Given the description of an element on the screen output the (x, y) to click on. 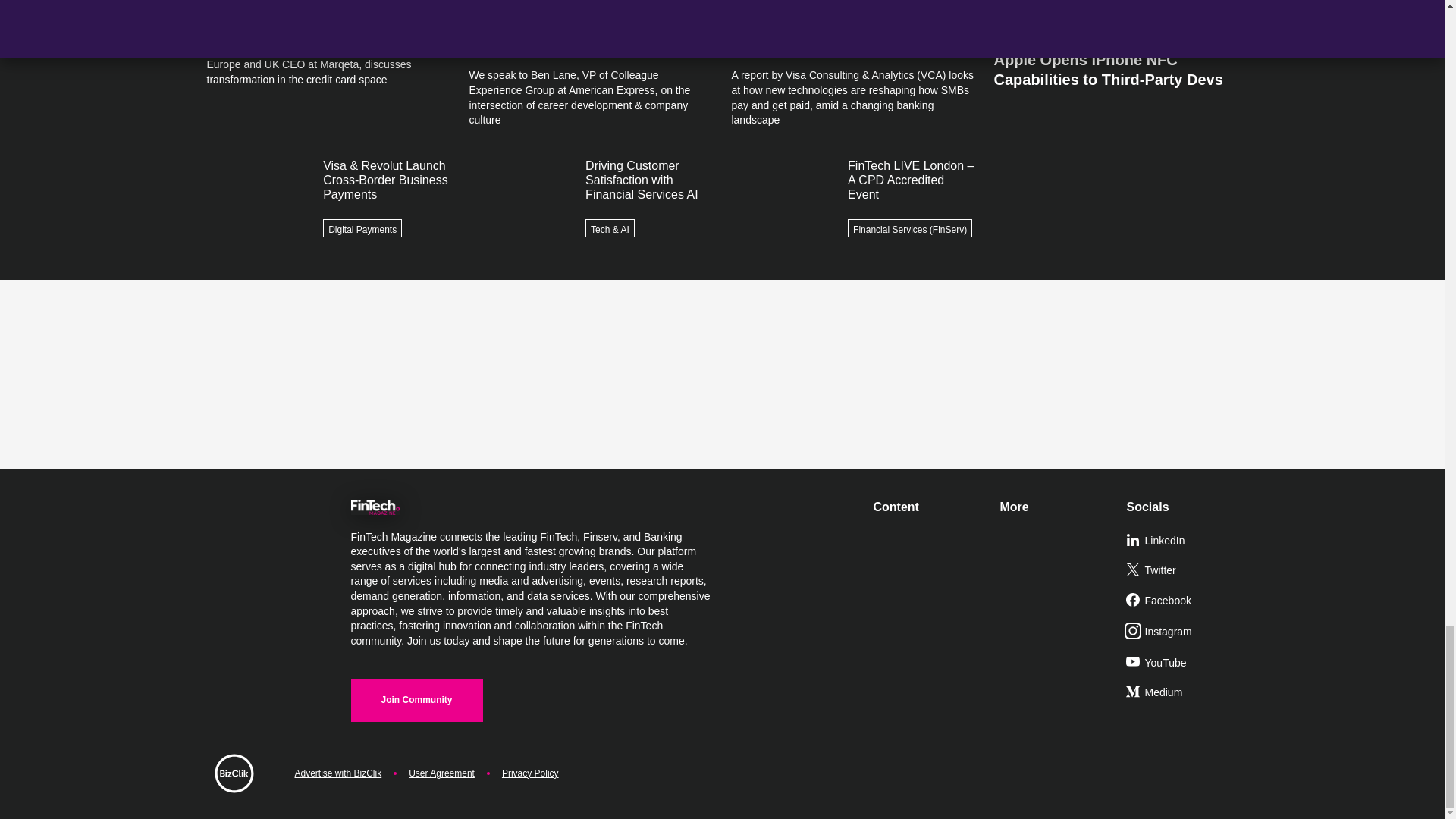
LinkedIn (1182, 541)
Join Community (415, 699)
Apple Opens iPhone NFC Capabilities to Third-Party Devs (1114, 63)
